Given the description of an element on the screen output the (x, y) to click on. 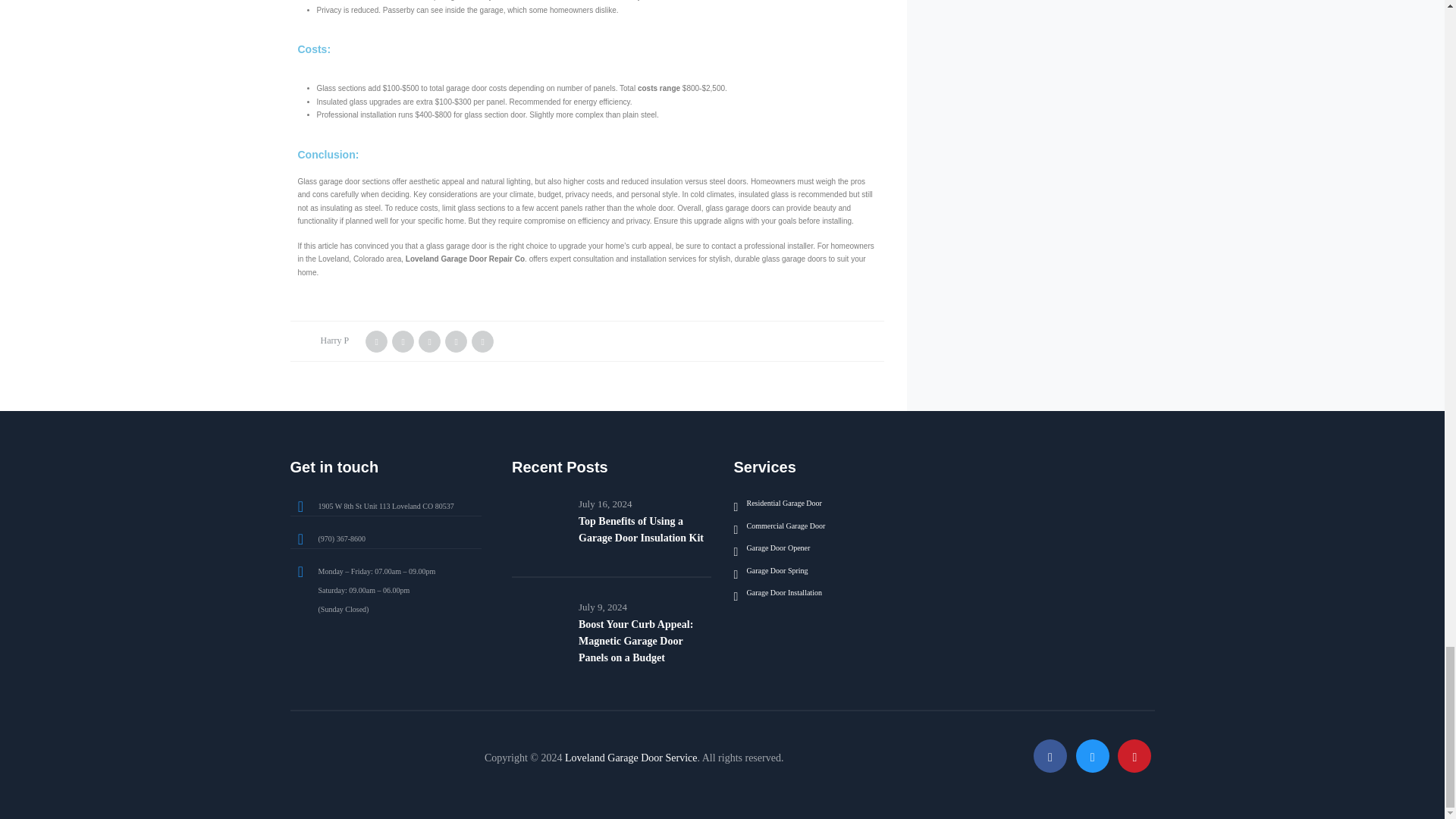
costs range (658, 88)
Harry P (334, 339)
Loveland Garage Door Repair Co (465, 258)
